Given the description of an element on the screen output the (x, y) to click on. 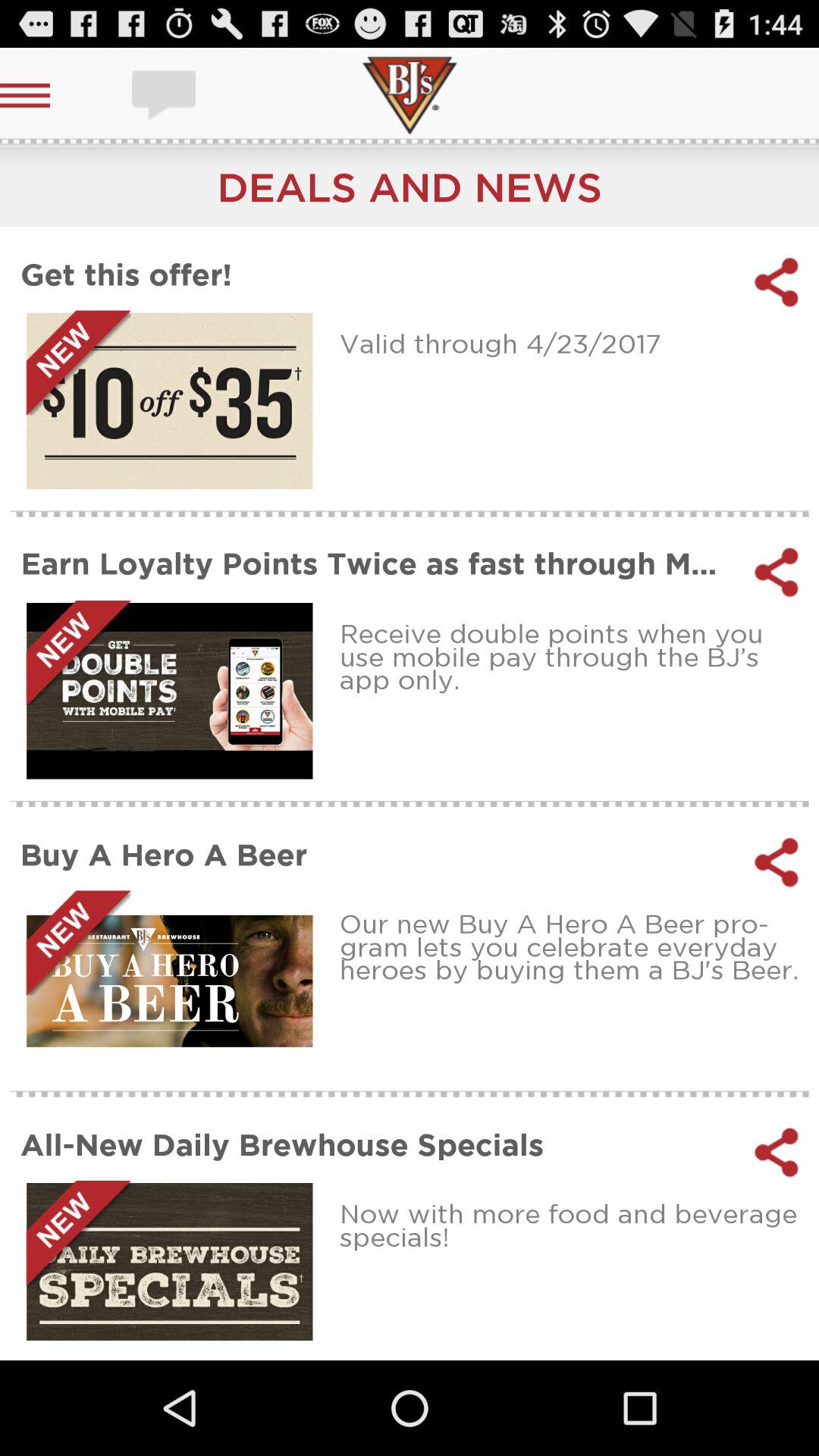
launch item above the buy a hero icon (573, 656)
